Given the description of an element on the screen output the (x, y) to click on. 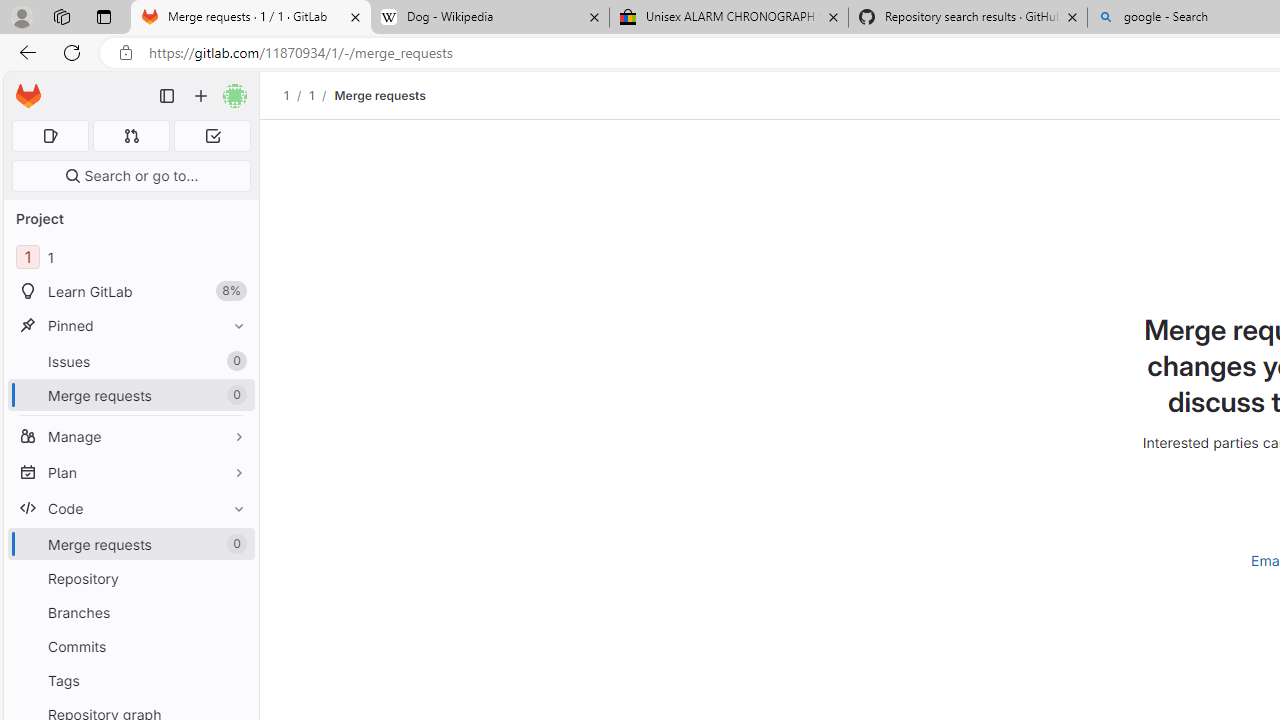
Pin Branches (234, 611)
Manage (130, 435)
Learn GitLab 8% (130, 291)
Unpin Issues (234, 361)
Tags (130, 679)
Issues0 (130, 361)
